Given the description of an element on the screen output the (x, y) to click on. 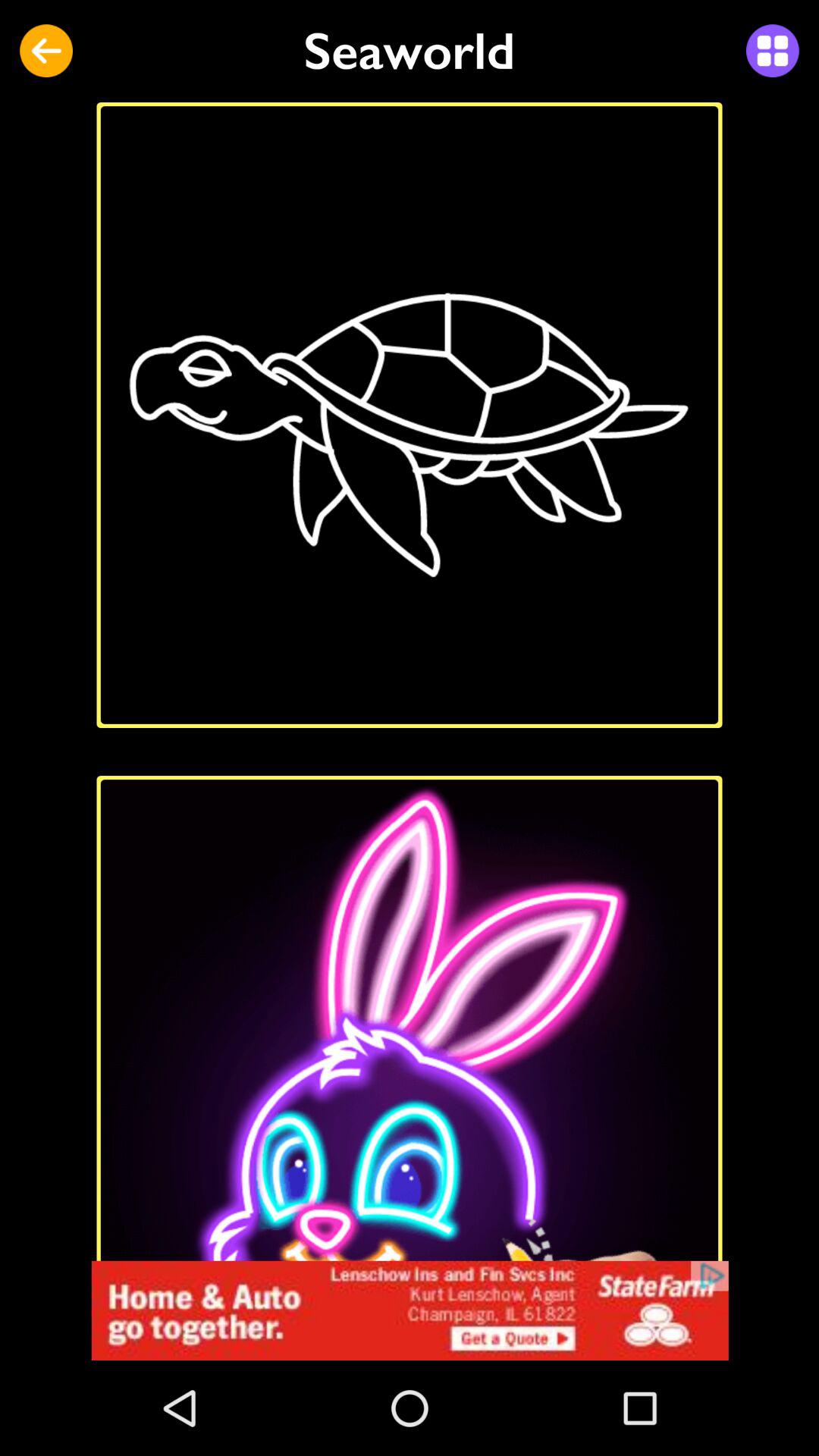
launch icon at the top right corner (772, 50)
